Given the description of an element on the screen output the (x, y) to click on. 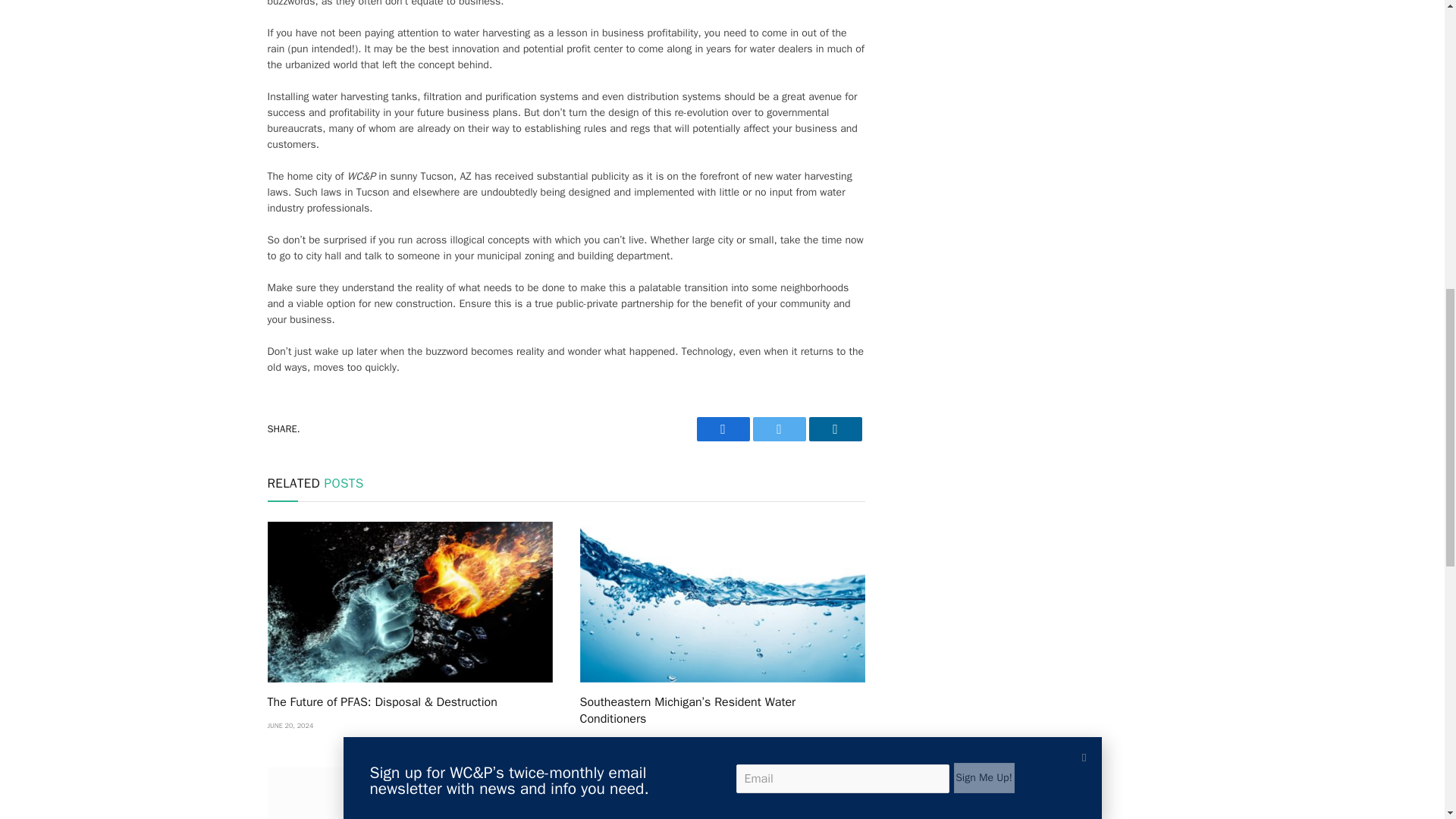
Share on Twitter (778, 428)
Share on LinkedIn (834, 428)
Share on Twitter (722, 428)
